Given the description of an element on the screen output the (x, y) to click on. 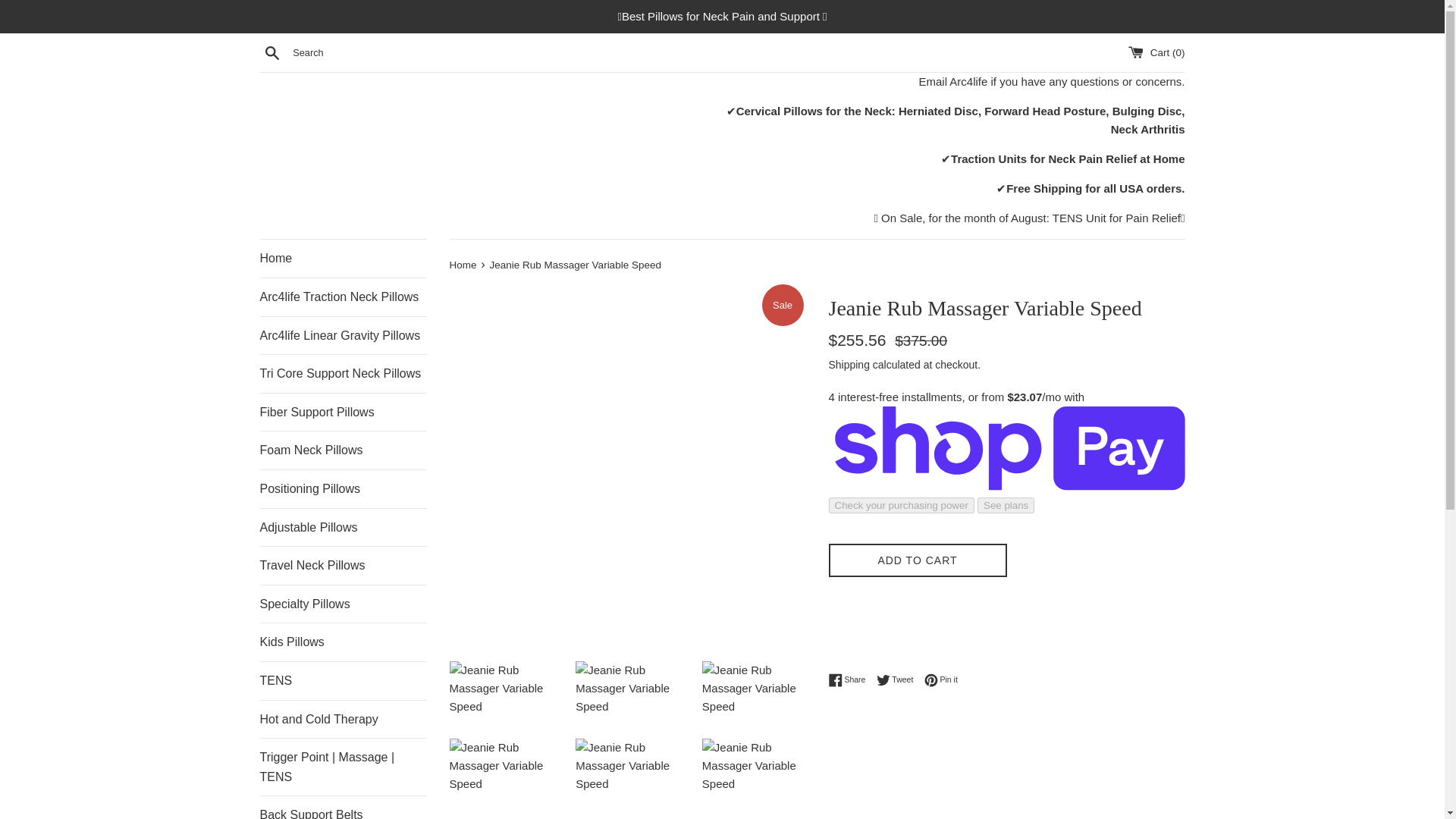
Travel Neck Pillows (342, 565)
Ultima Tens 5 Portable Tens Electrotherapy Unit- Digital (1116, 217)
Positioning Pillows (342, 488)
Share on Facebook (850, 680)
Pin on Pinterest (941, 680)
Hot and Cold Therapy (342, 719)
Back to the frontpage (463, 265)
Fiber Support Pillows (342, 412)
TENS (342, 680)
TENS Unit for Pain Relief (1116, 217)
